Given the description of an element on the screen output the (x, y) to click on. 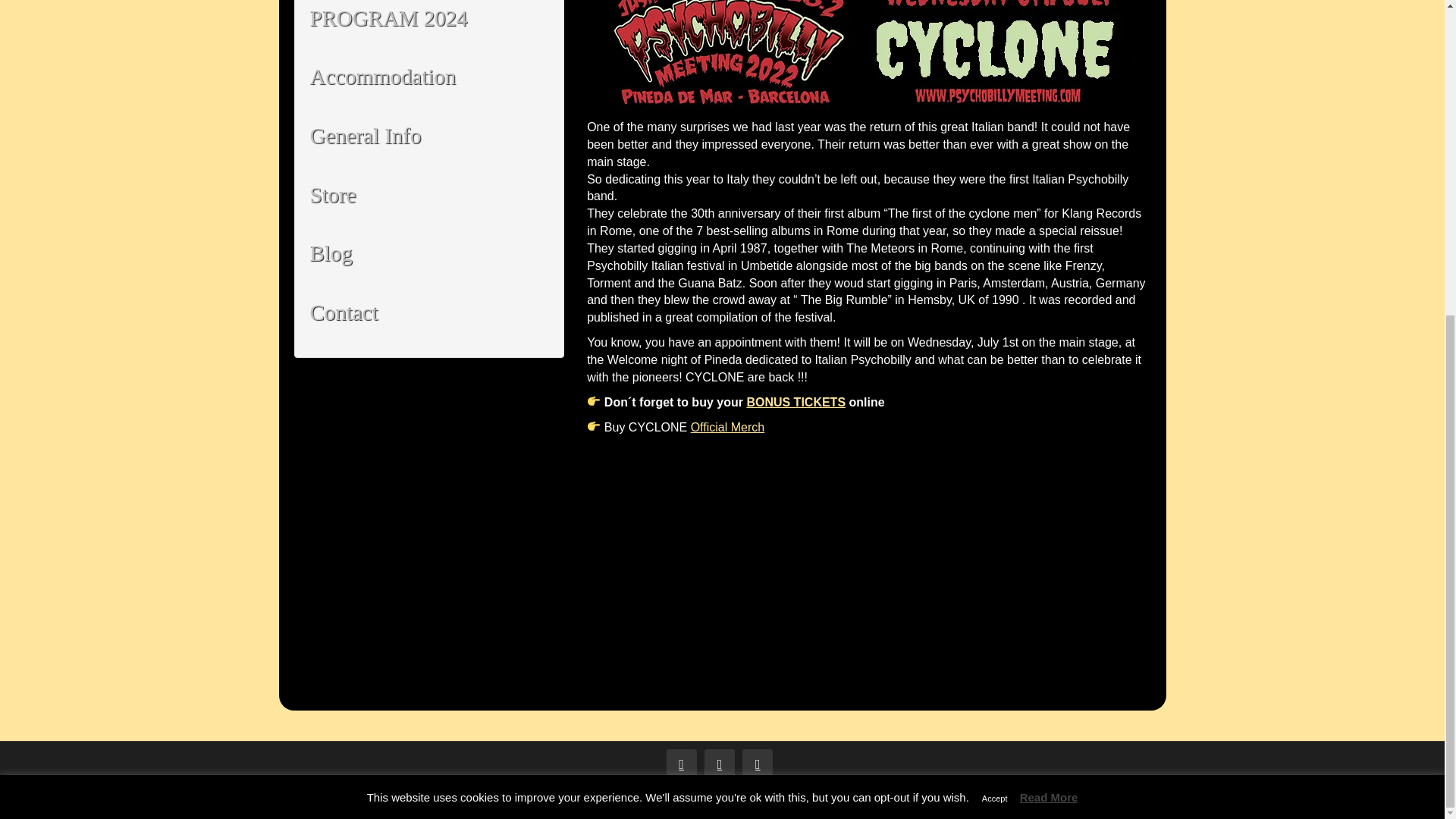
BONUS TICKETS (795, 401)
Accommodation (428, 77)
PROGRAM 2024 (428, 24)
General Info (428, 136)
Official Merch (727, 426)
